Given the description of an element on the screen output the (x, y) to click on. 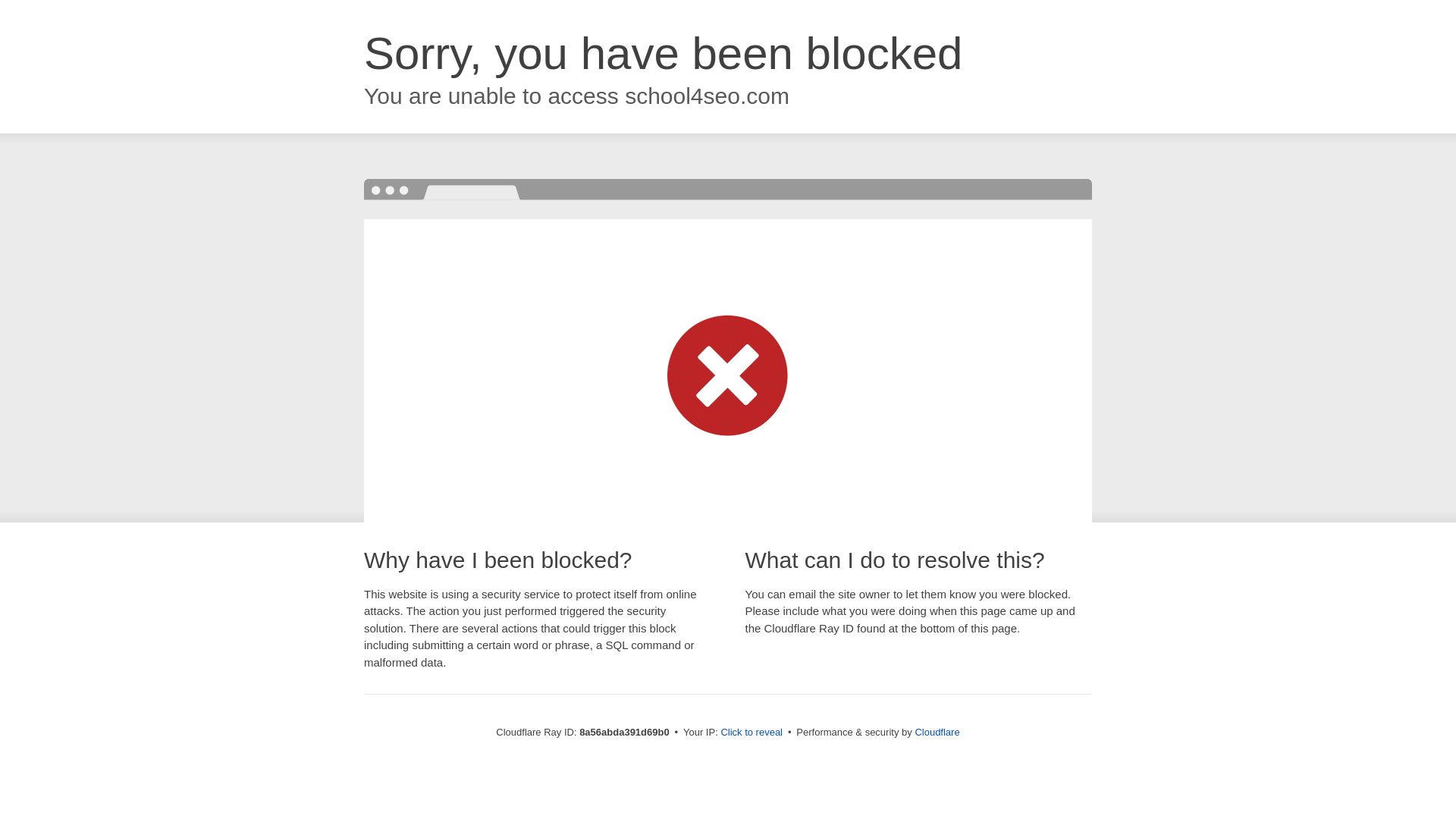
Click to reveal (751, 732)
Cloudflare (936, 731)
